Given the description of an element on the screen output the (x, y) to click on. 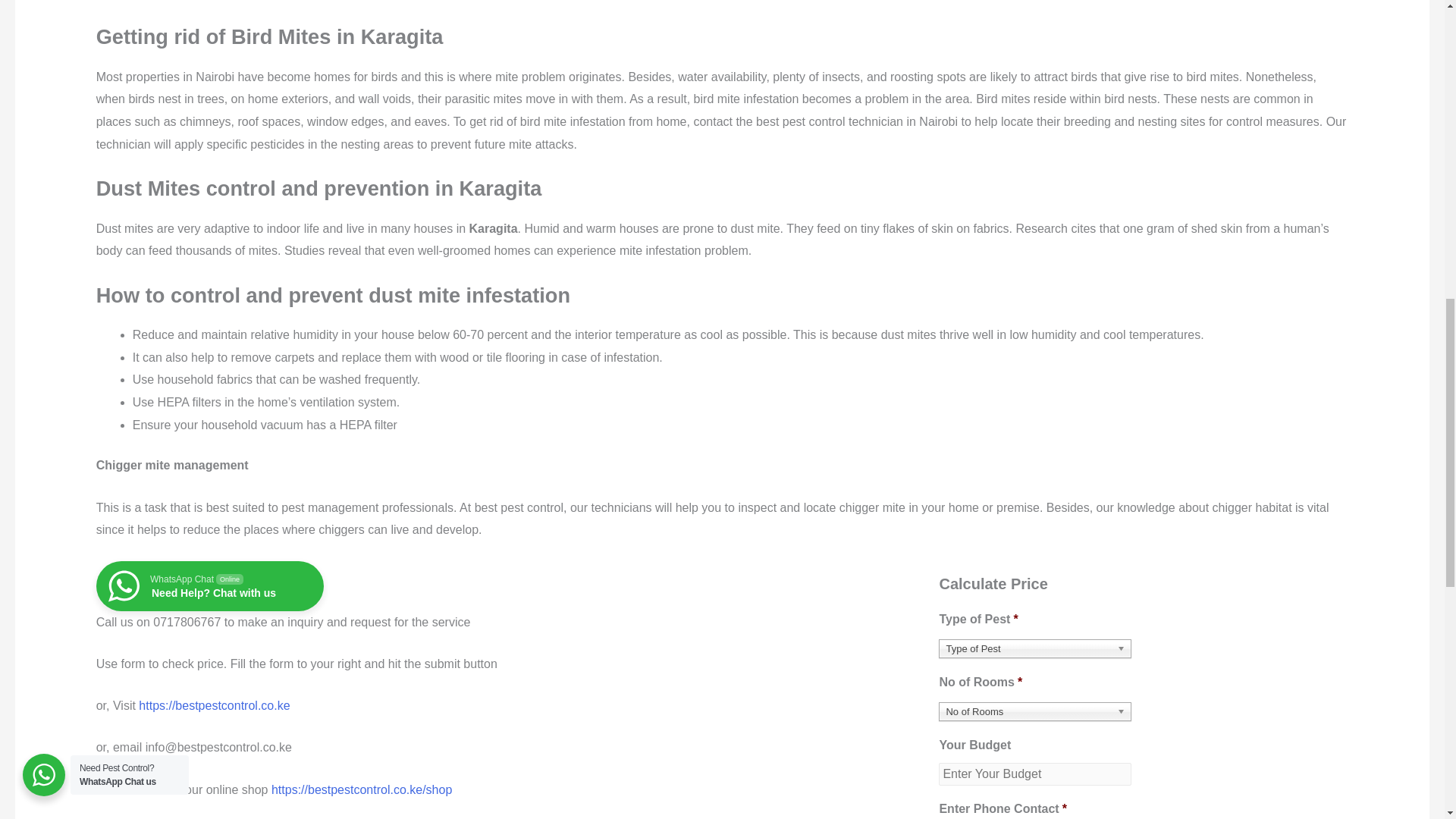
No of Rooms (1035, 711)
Type of Pest (209, 585)
